Given the description of an element on the screen output the (x, y) to click on. 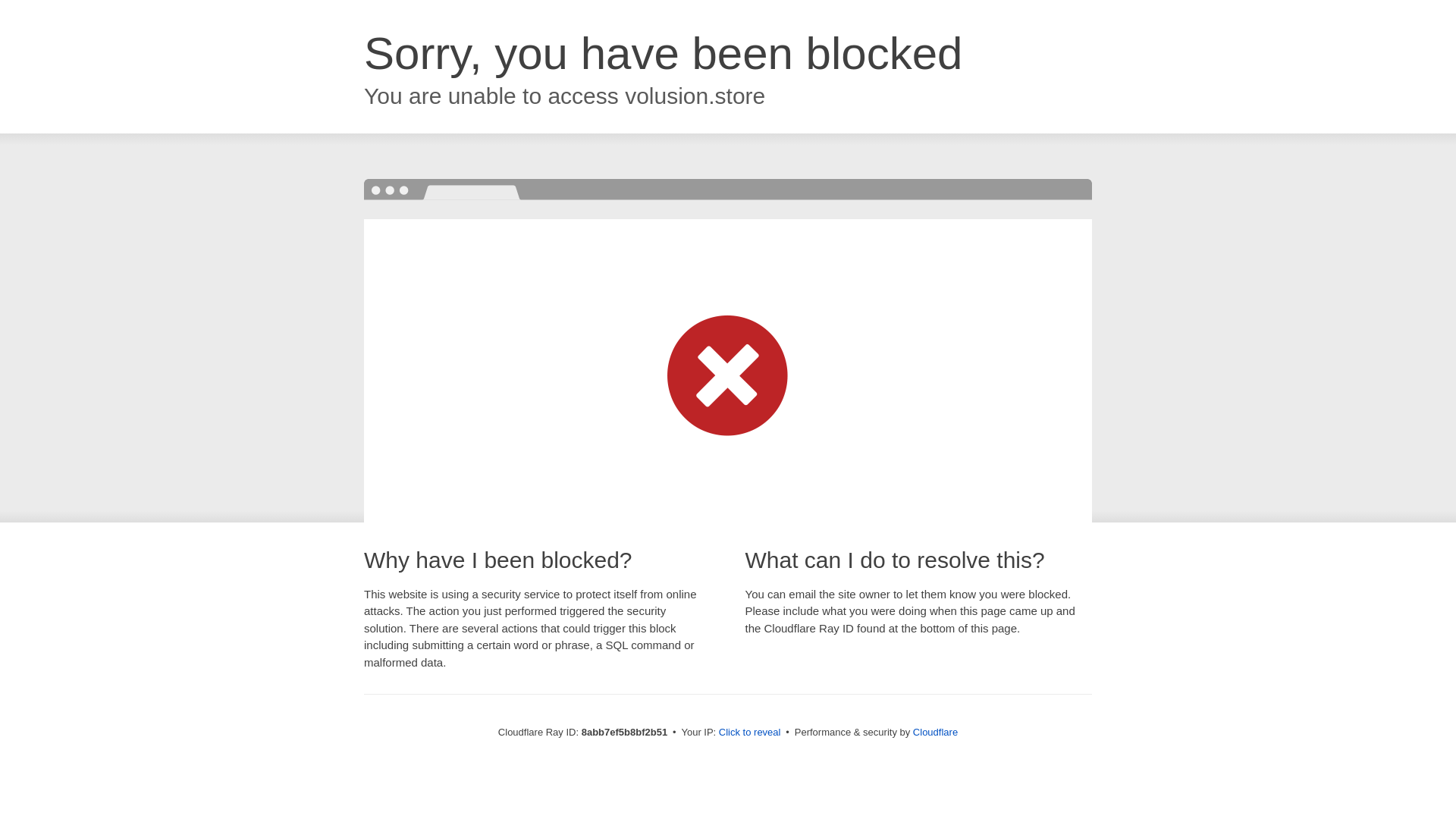
Cloudflare (935, 731)
Click to reveal (749, 732)
